Given the description of an element on the screen output the (x, y) to click on. 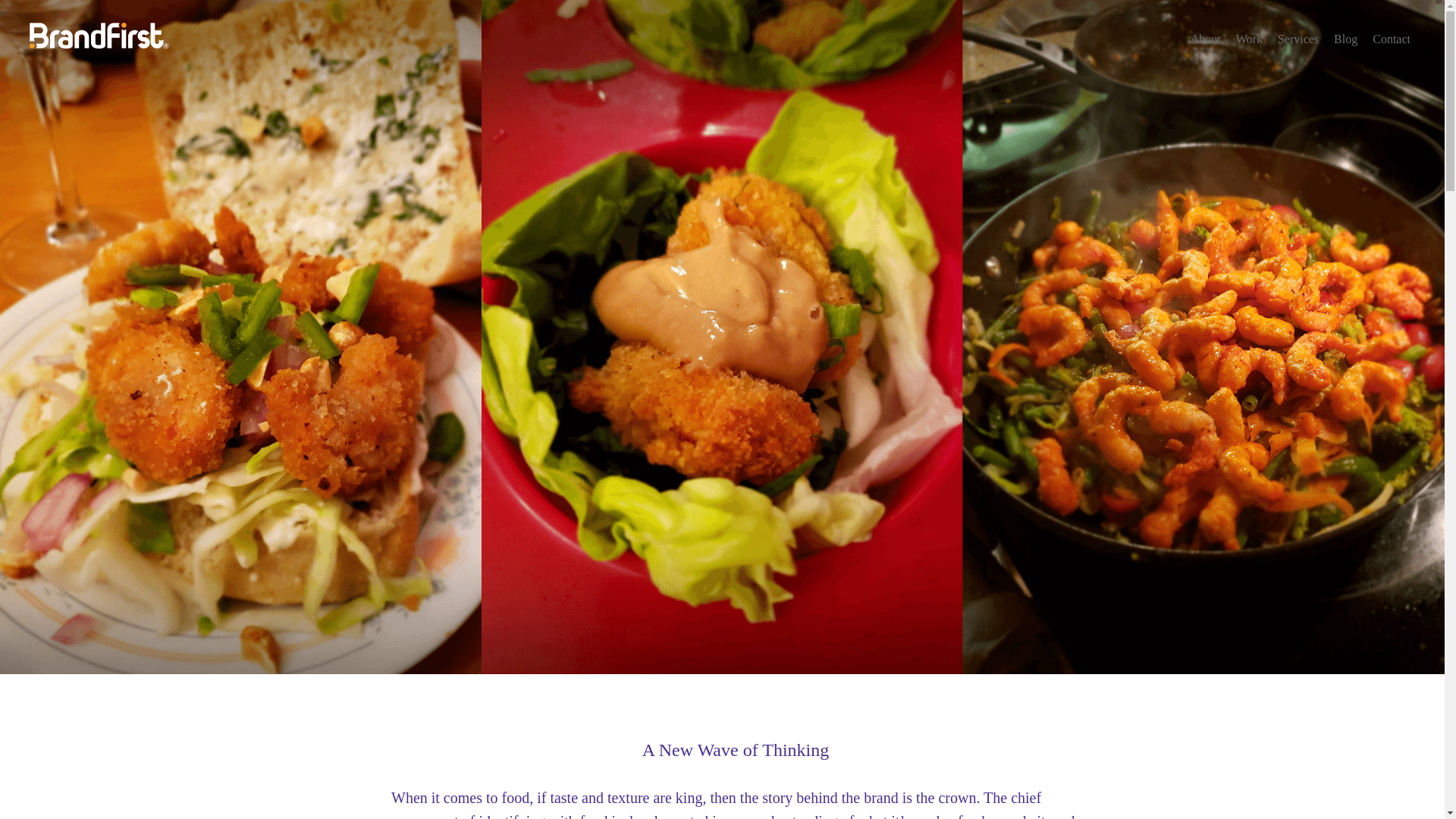
Contact (1383, 38)
About (1197, 38)
Blog (1337, 38)
START A PROJECT (905, 649)
Work (1241, 38)
Services (1290, 38)
